Given the description of an element on the screen output the (x, y) to click on. 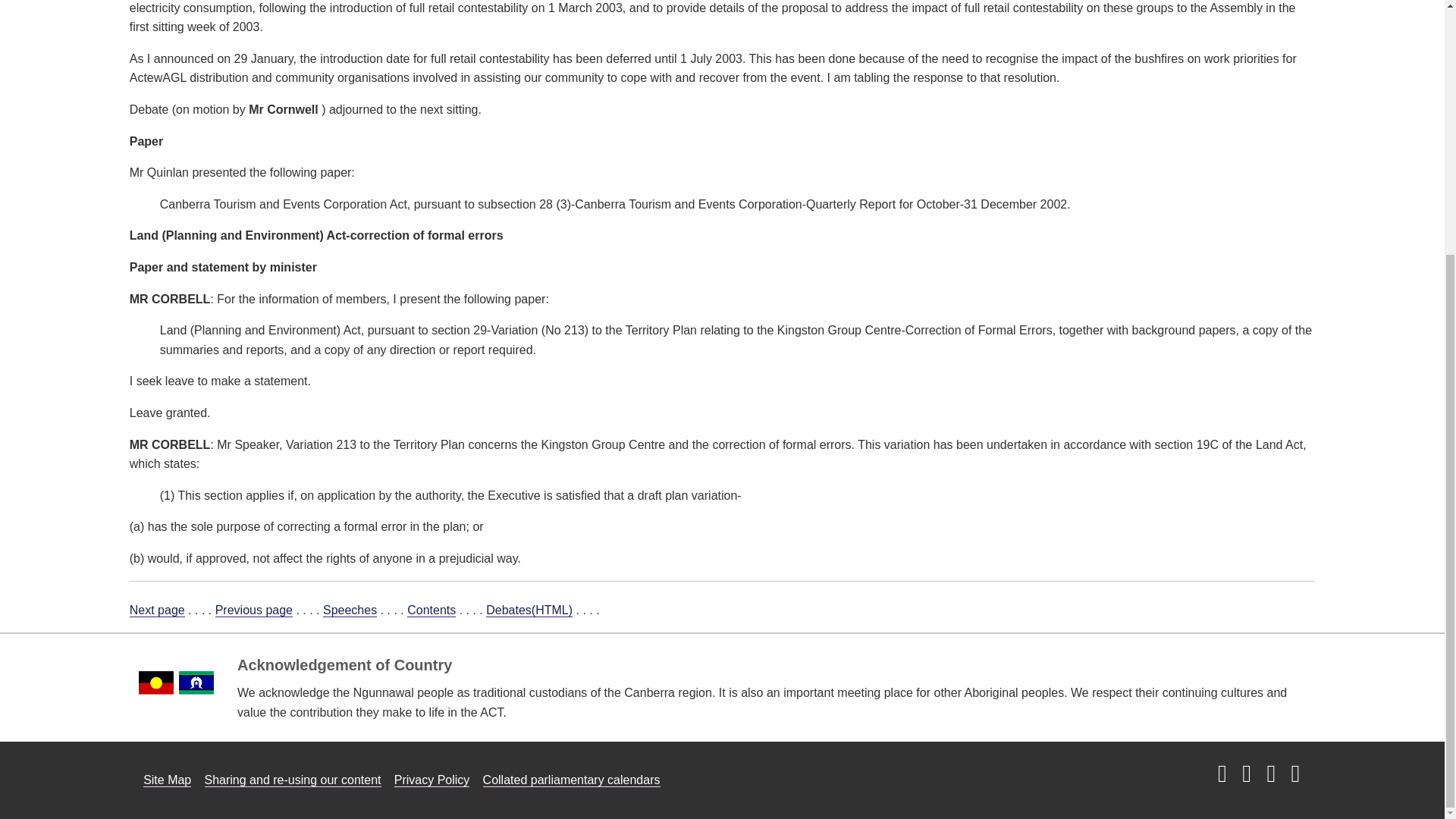
Next page (156, 610)
Sharing and re-using our content (293, 780)
Link to Site Map (166, 780)
Speeches (350, 610)
Link to Privacy Policy (432, 780)
Link to Sharing and re-using our content (293, 780)
Collated parliamentary calendars (572, 780)
Previous page (253, 610)
Privacy Policy (432, 780)
Contents (431, 610)
